Given the description of an element on the screen output the (x, y) to click on. 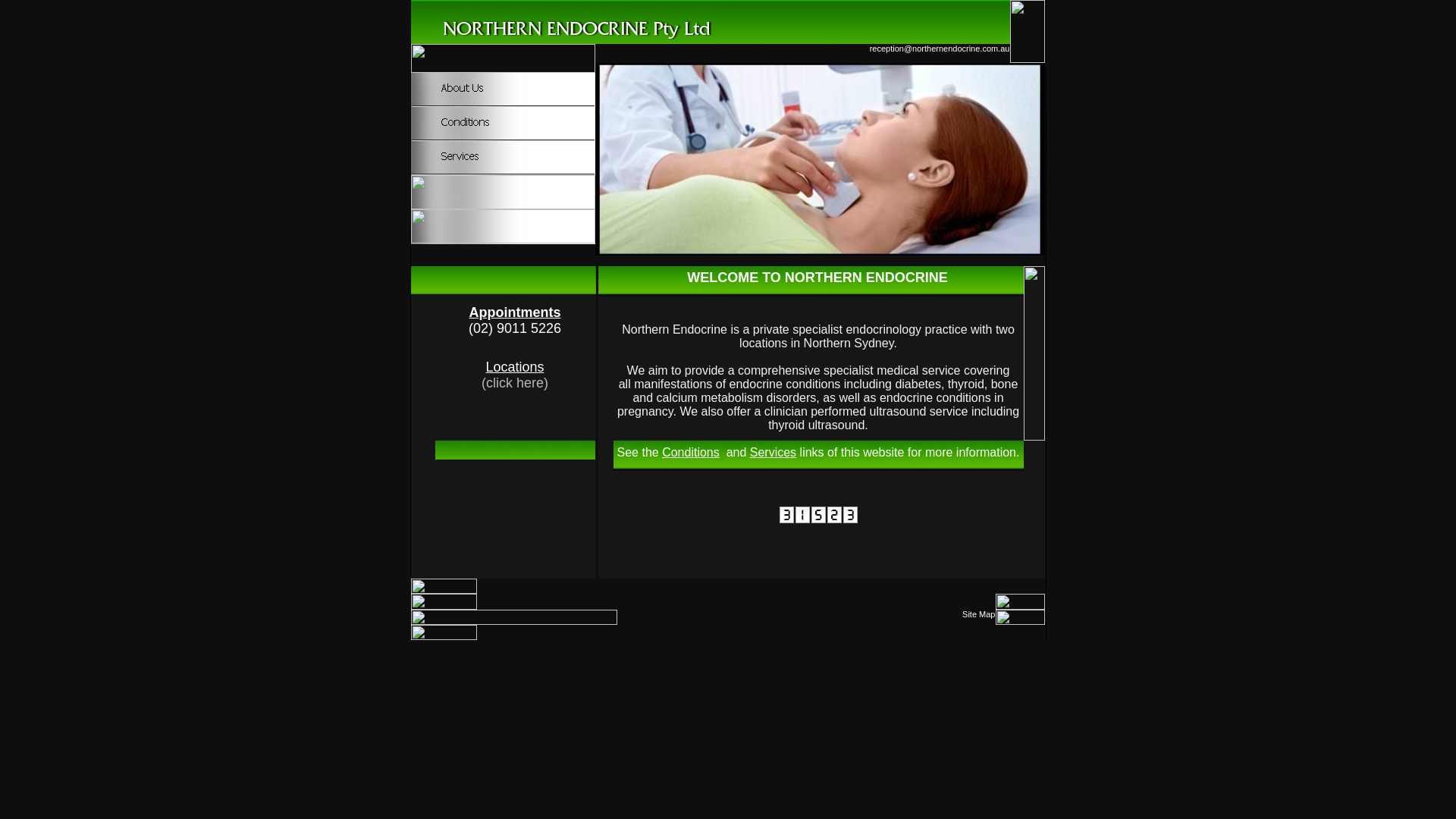
Locations Element type: text (514, 367)
Services Element type: text (772, 451)
Site Map Element type: text (978, 613)
Conditions Element type: text (690, 451)
reception@northernendocrine.com.au Element type: text (939, 48)
